Given the description of an element on the screen output the (x, y) to click on. 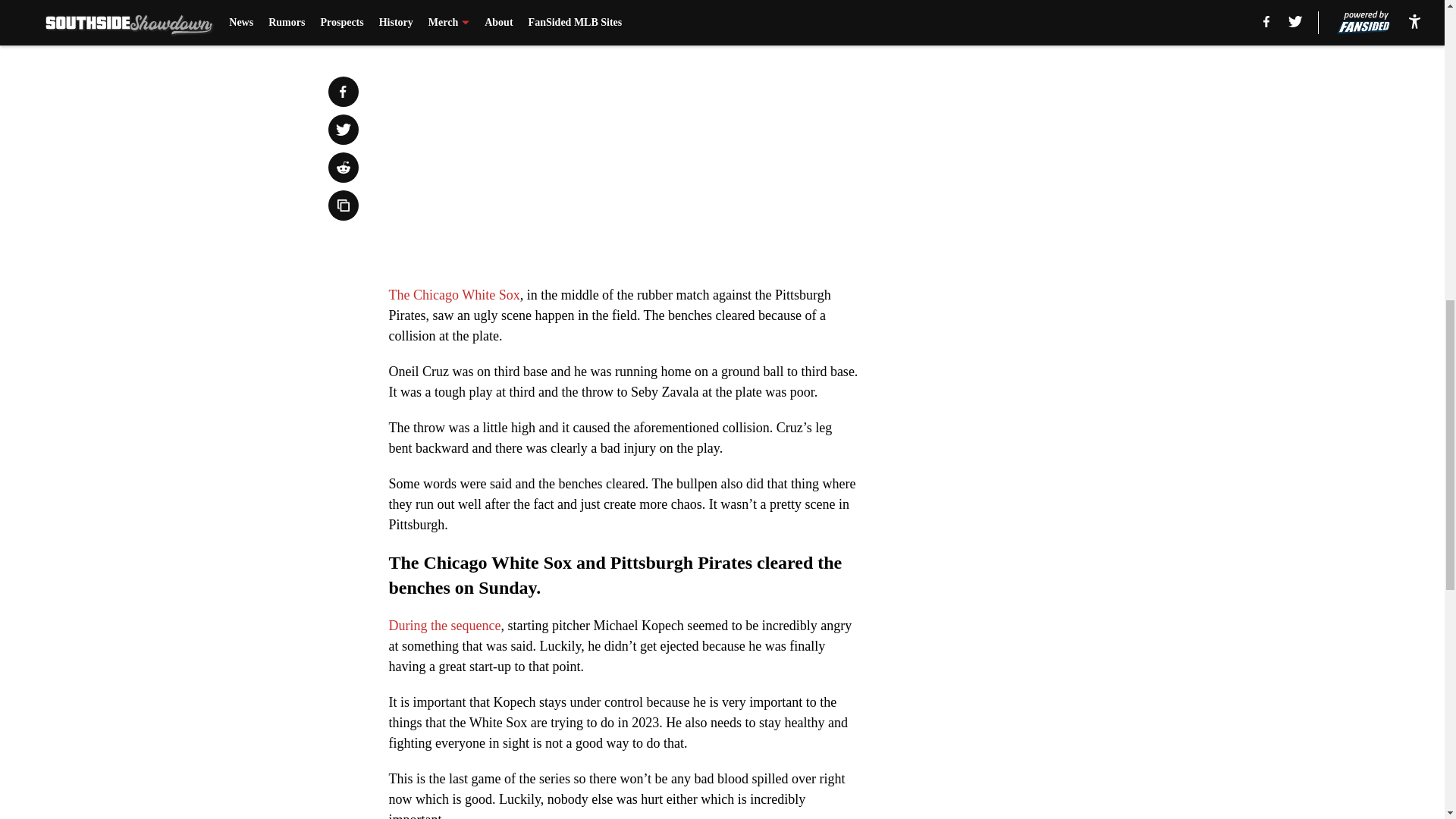
The Chicago White Sox (453, 294)
During the sequence (444, 625)
